Given the description of an element on the screen output the (x, y) to click on. 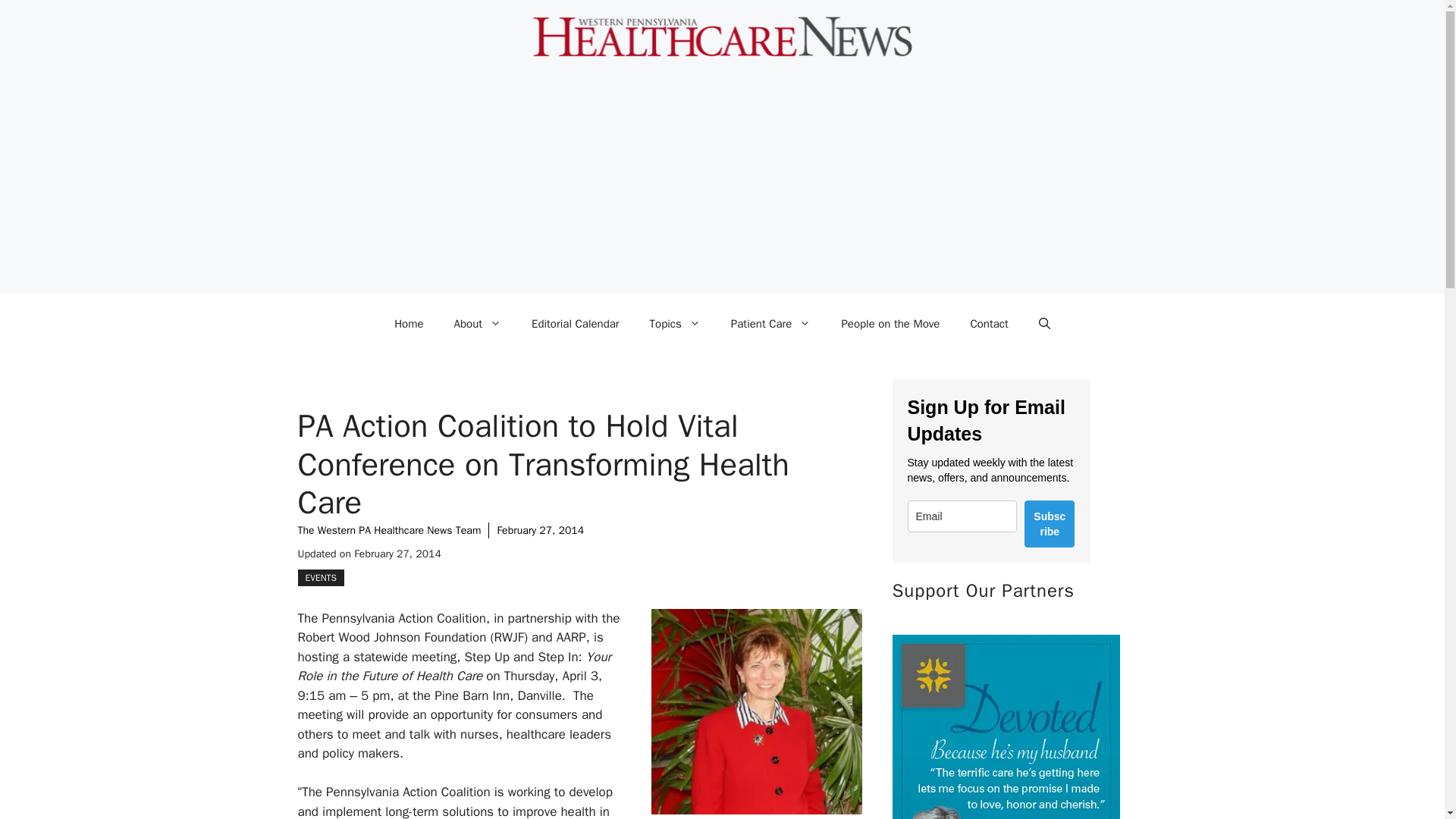
Contact (989, 323)
Topics (675, 323)
Patient Care (771, 323)
The Western PA Healthcare News Team (388, 530)
About (477, 323)
EVENTS (320, 577)
Home (408, 323)
Editorial Calendar (575, 323)
People on the Move (890, 323)
